Given the description of an element on the screen output the (x, y) to click on. 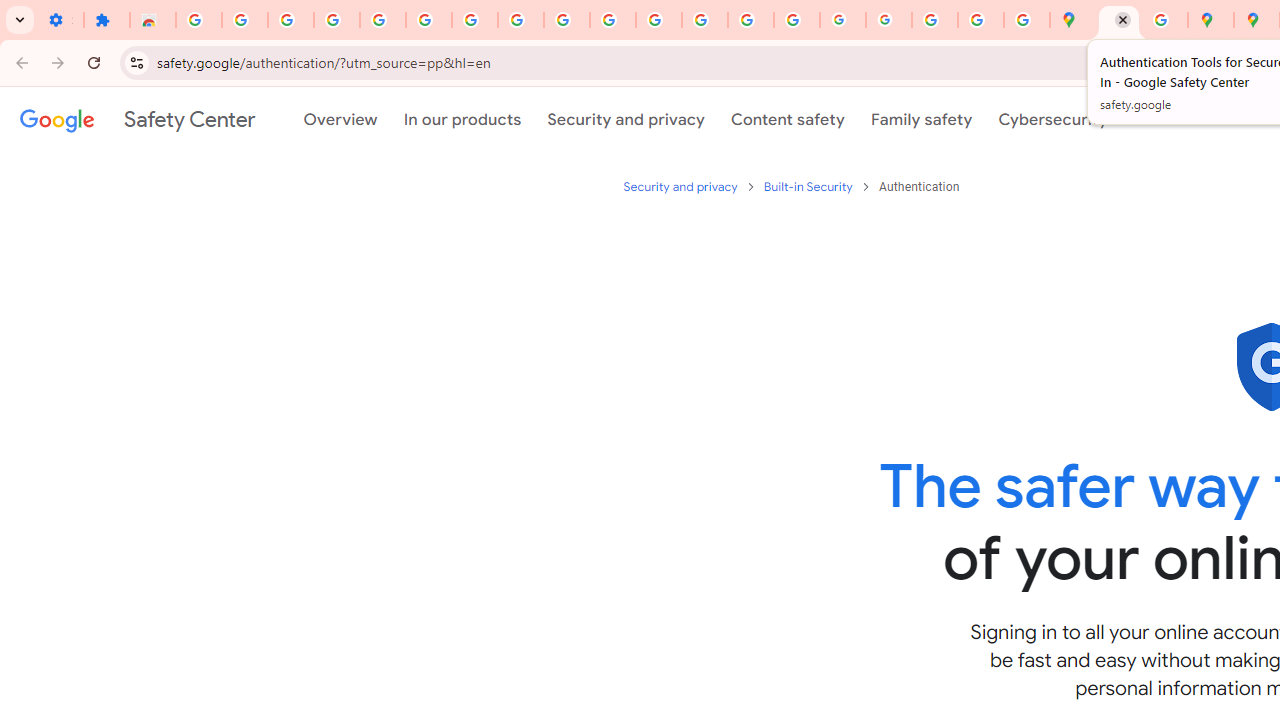
Delete photos & videos - Computer - Google Photos Help (290, 20)
Content safety (787, 119)
https://scholar.google.com/ (659, 20)
Google Account (520, 20)
